Given the description of an element on the screen output the (x, y) to click on. 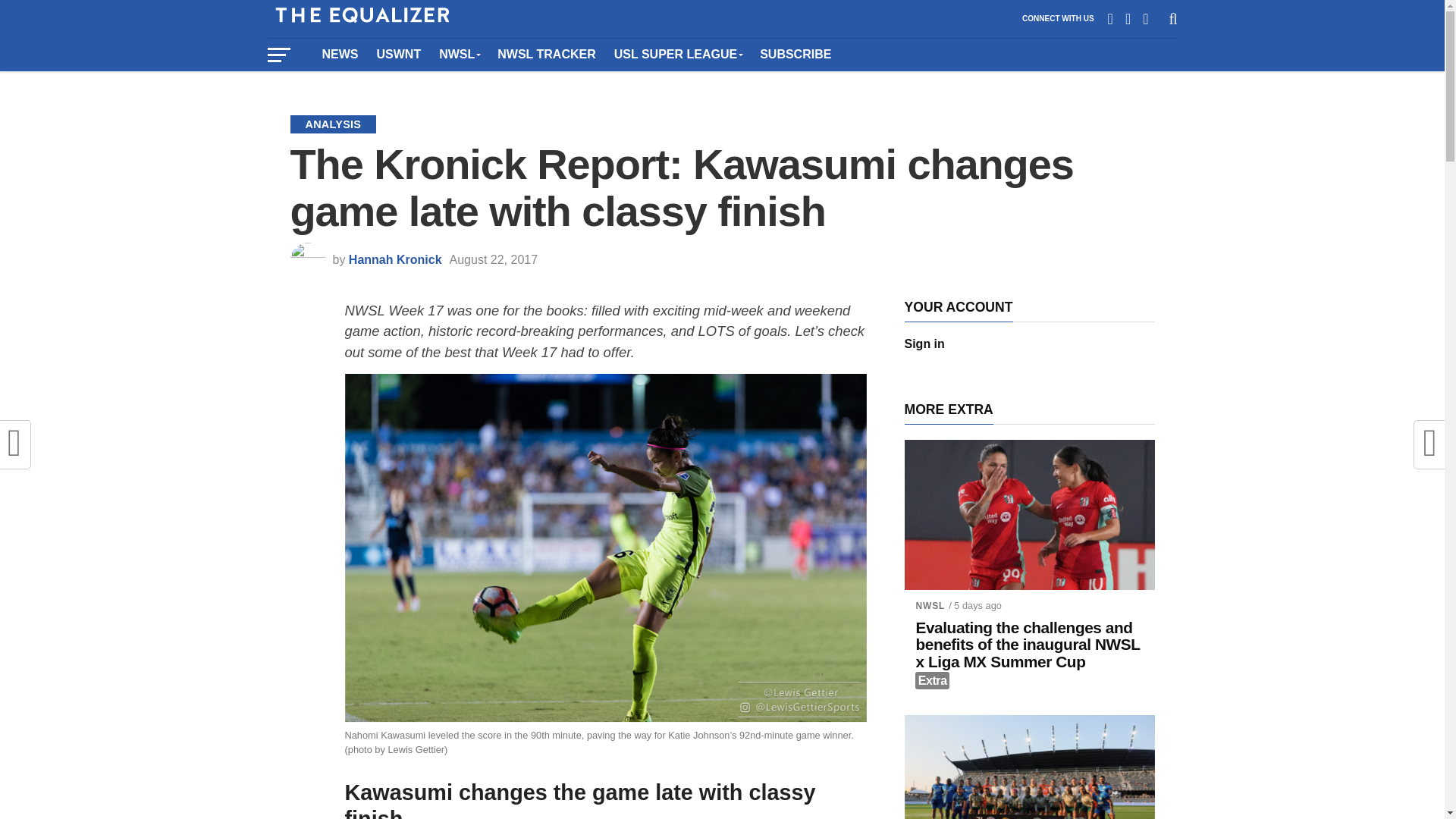
USWNT (397, 54)
NEWS (339, 54)
Posts by Hannah Kronick (395, 259)
NWSL (458, 54)
